Given the description of an element on the screen output the (x, y) to click on. 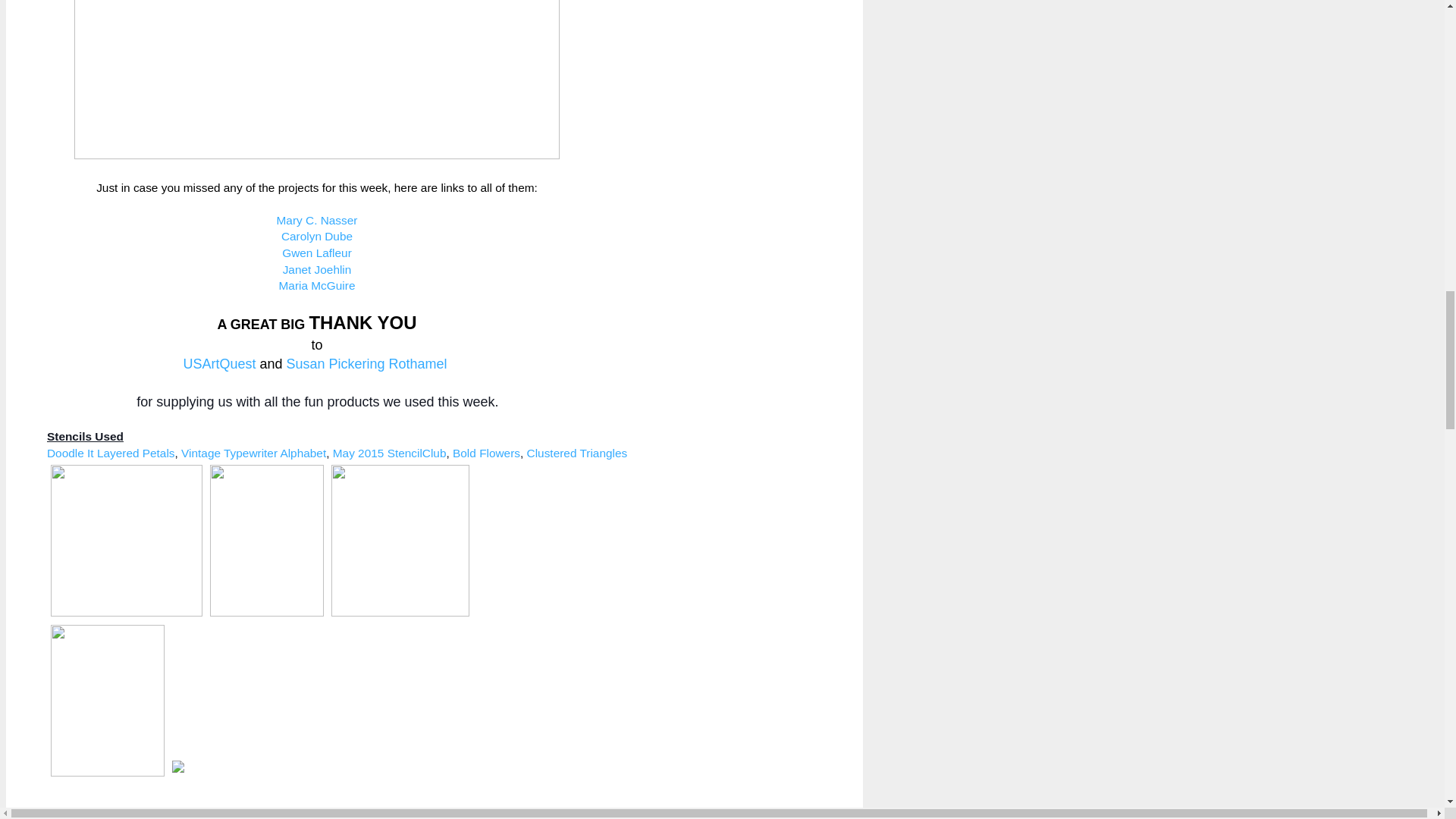
Janet Joehlin (317, 269)
Gwen Lafleur (317, 252)
USArtQuest (221, 363)
Carolyn Dube (316, 236)
May 2015 StencilClub (389, 452)
usan Pickering Rothamel (370, 363)
Vintage Typewriter Alphabet (253, 452)
Bold Flowers (485, 452)
Mary C. Nasser (317, 219)
Clustered Triangles (577, 452)
Doodle It Layered Petals (110, 452)
Maria McGuire (317, 285)
